Given the description of an element on the screen output the (x, y) to click on. 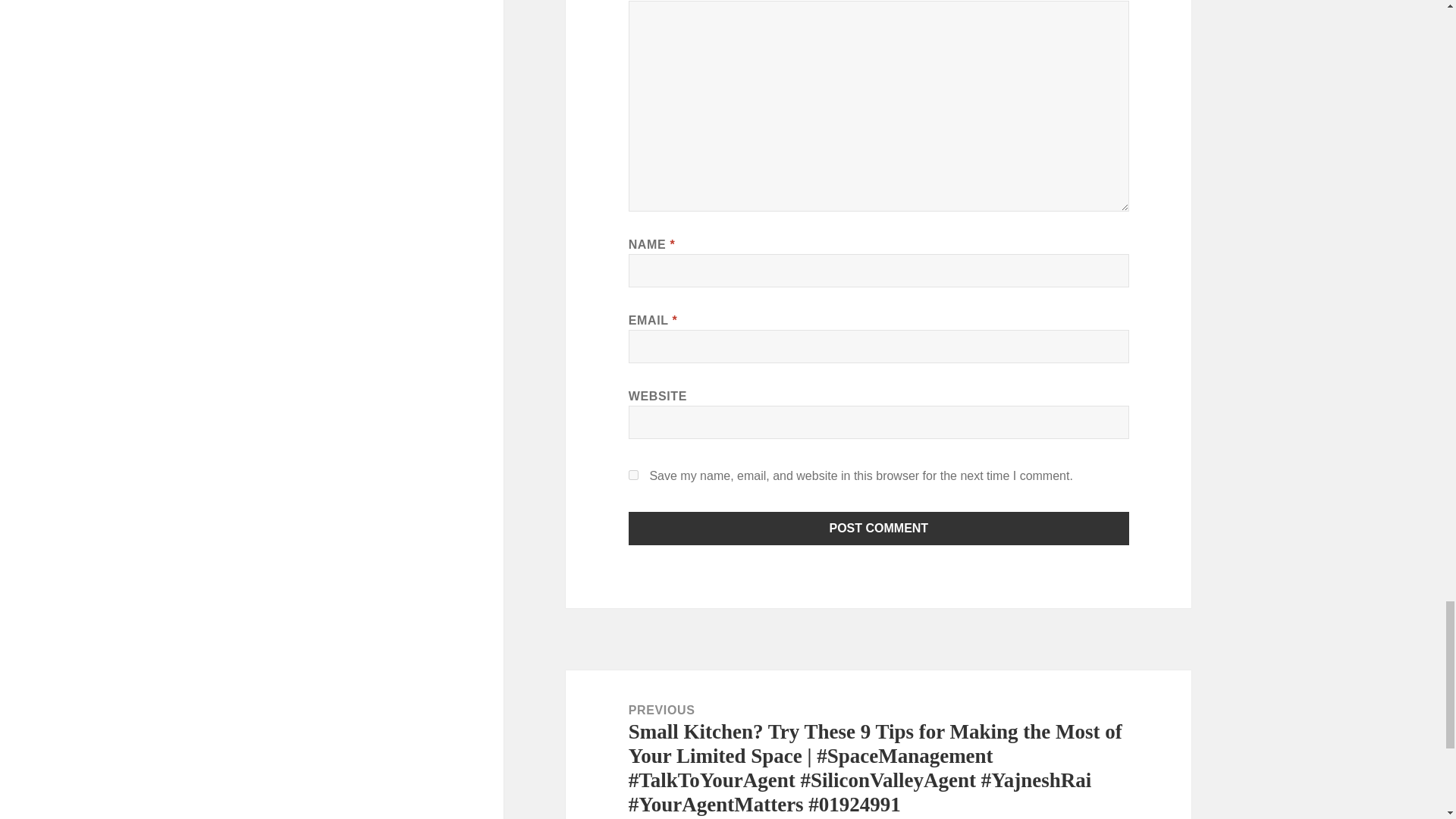
yes (633, 474)
Post Comment (878, 528)
Post Comment (878, 528)
